Given the description of an element on the screen output the (x, y) to click on. 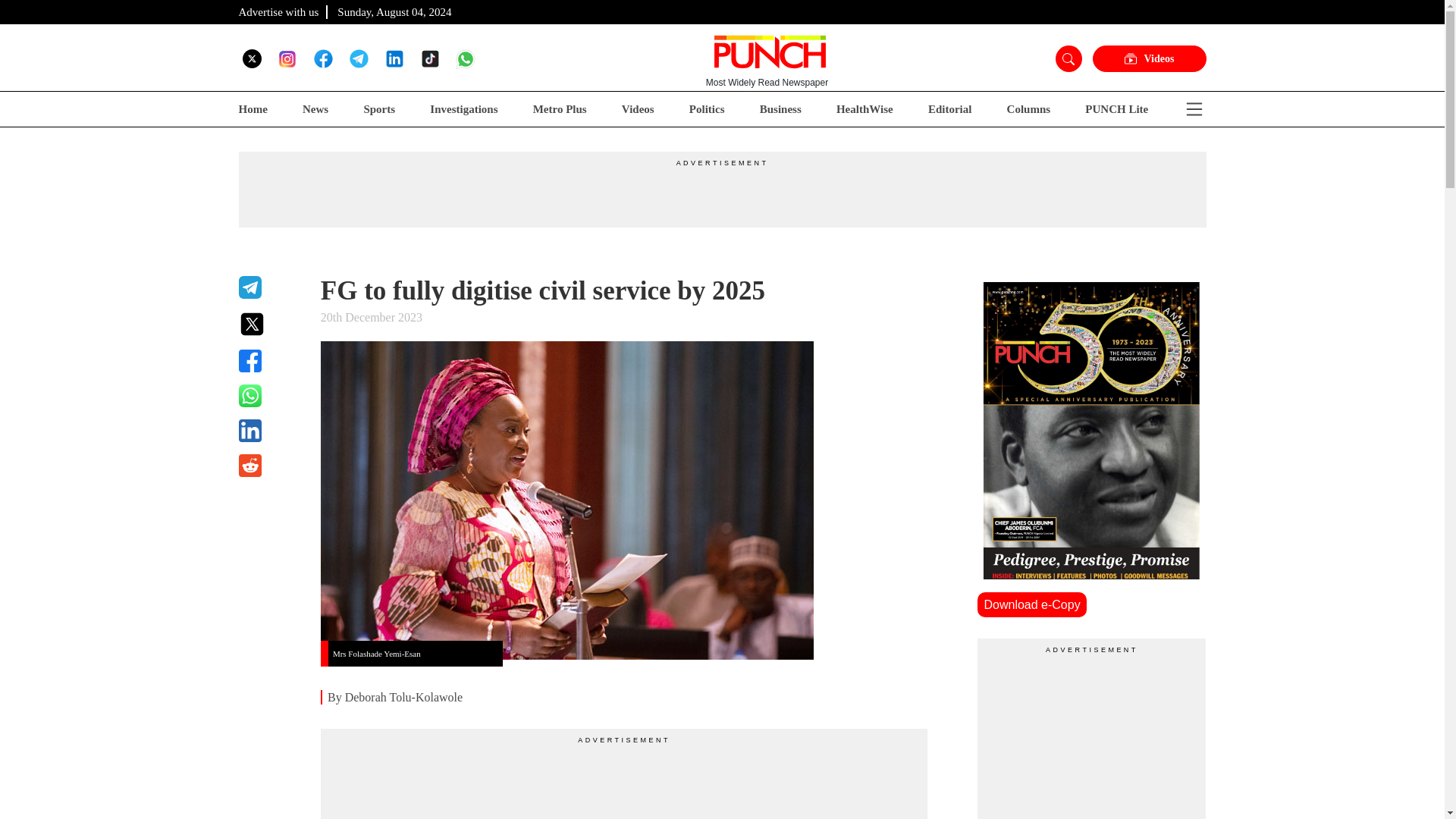
Sunday, August 04, 2024 (394, 11)
Follow us on Tiktok (430, 58)
Advertise with us (278, 11)
Follow Our Channel on Telegram (358, 58)
Follow Us on Facebook (323, 58)
Share on Reddit (269, 465)
Share on Telegram (269, 287)
Share on Facbook (269, 360)
Editorial (950, 109)
Follow Us on X (252, 58)
News (315, 109)
Share on Twitter (269, 324)
Follow Us on Instagram (287, 58)
Share on Linkedin (269, 430)
Follow us on Linkedin (395, 58)
